Given the description of an element on the screen output the (x, y) to click on. 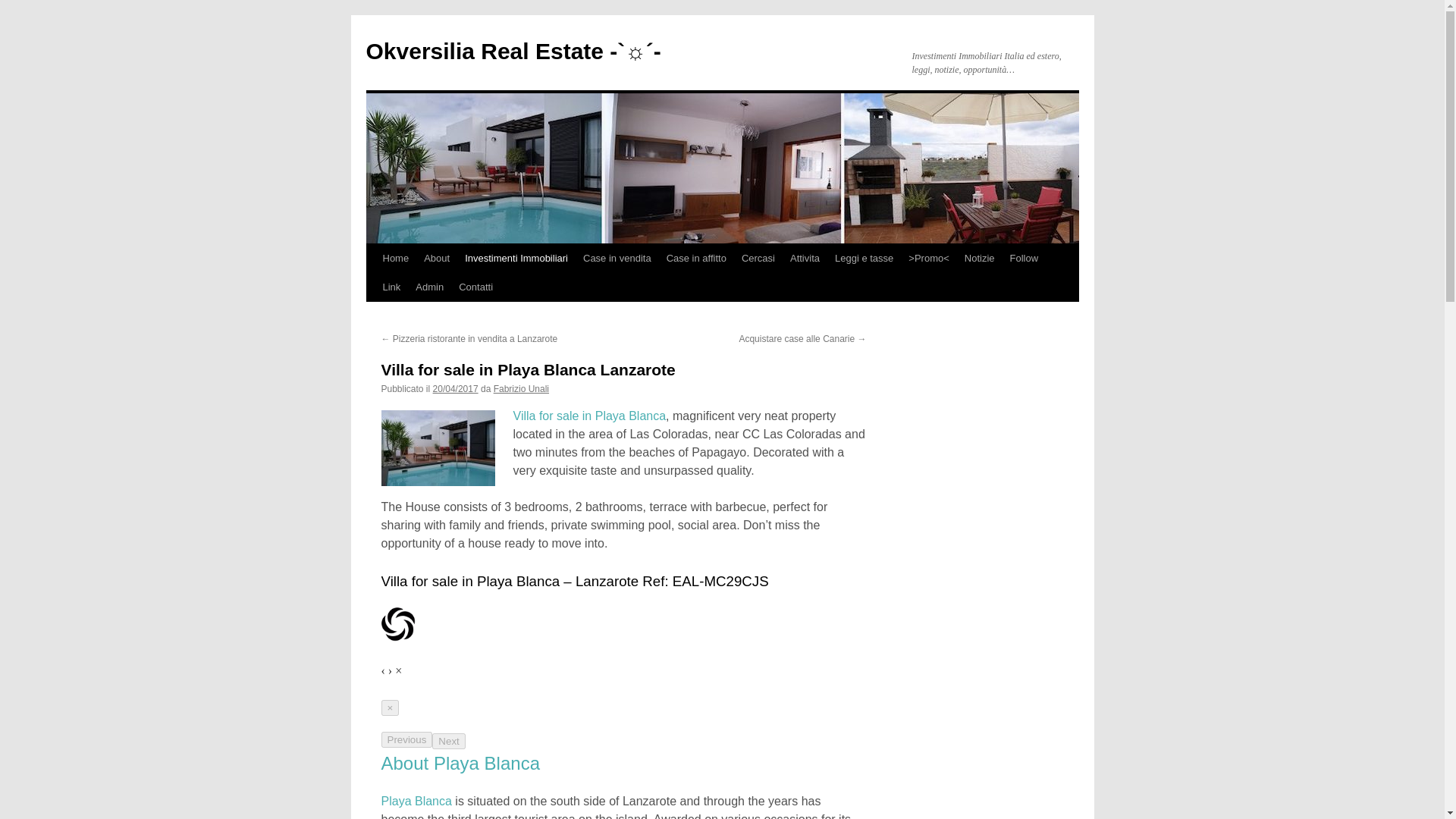
Home (395, 258)
Investimenti Immobiliari (516, 258)
Visualizza tutti gli articoli di Fabrizio Unali (520, 388)
17:10 (455, 388)
About (436, 258)
